Given the description of an element on the screen output the (x, y) to click on. 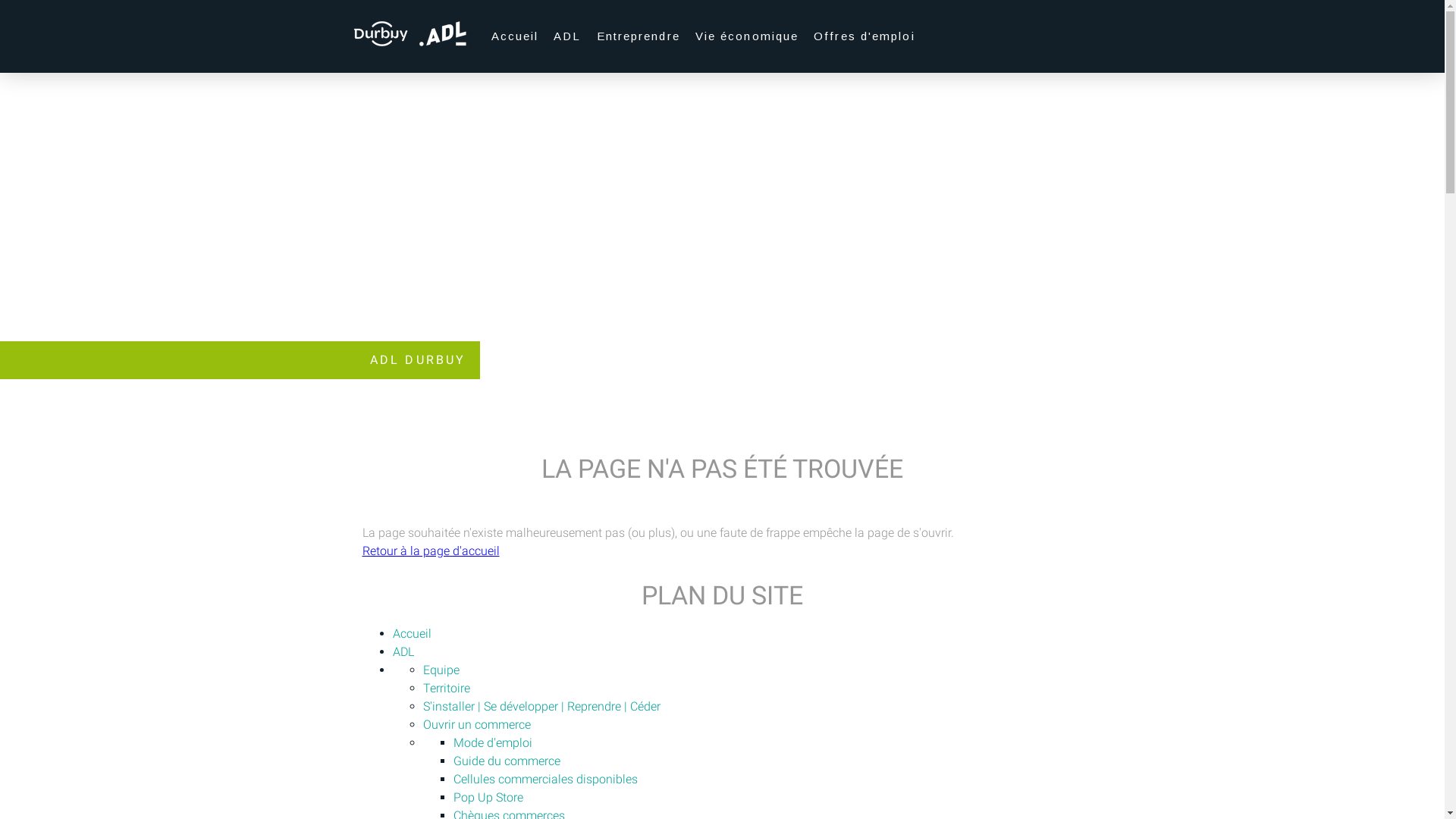
Equipe Element type: text (441, 669)
Entreprendre Element type: text (638, 36)
Mode d'emploi Element type: text (492, 742)
Cellules commerciales disponibles Element type: text (545, 778)
ADL Element type: text (567, 36)
Accueil Element type: text (411, 633)
ADL Element type: text (403, 651)
Pop Up Store Element type: text (488, 797)
Offres d'emploi Element type: text (864, 36)
Territoire Element type: text (446, 687)
Ouvrir un commerce Element type: text (476, 724)
Guide du commerce Element type: text (506, 760)
Accueil Element type: text (514, 36)
ADL DURBUY Element type: text (418, 360)
